Given the description of an element on the screen output the (x, y) to click on. 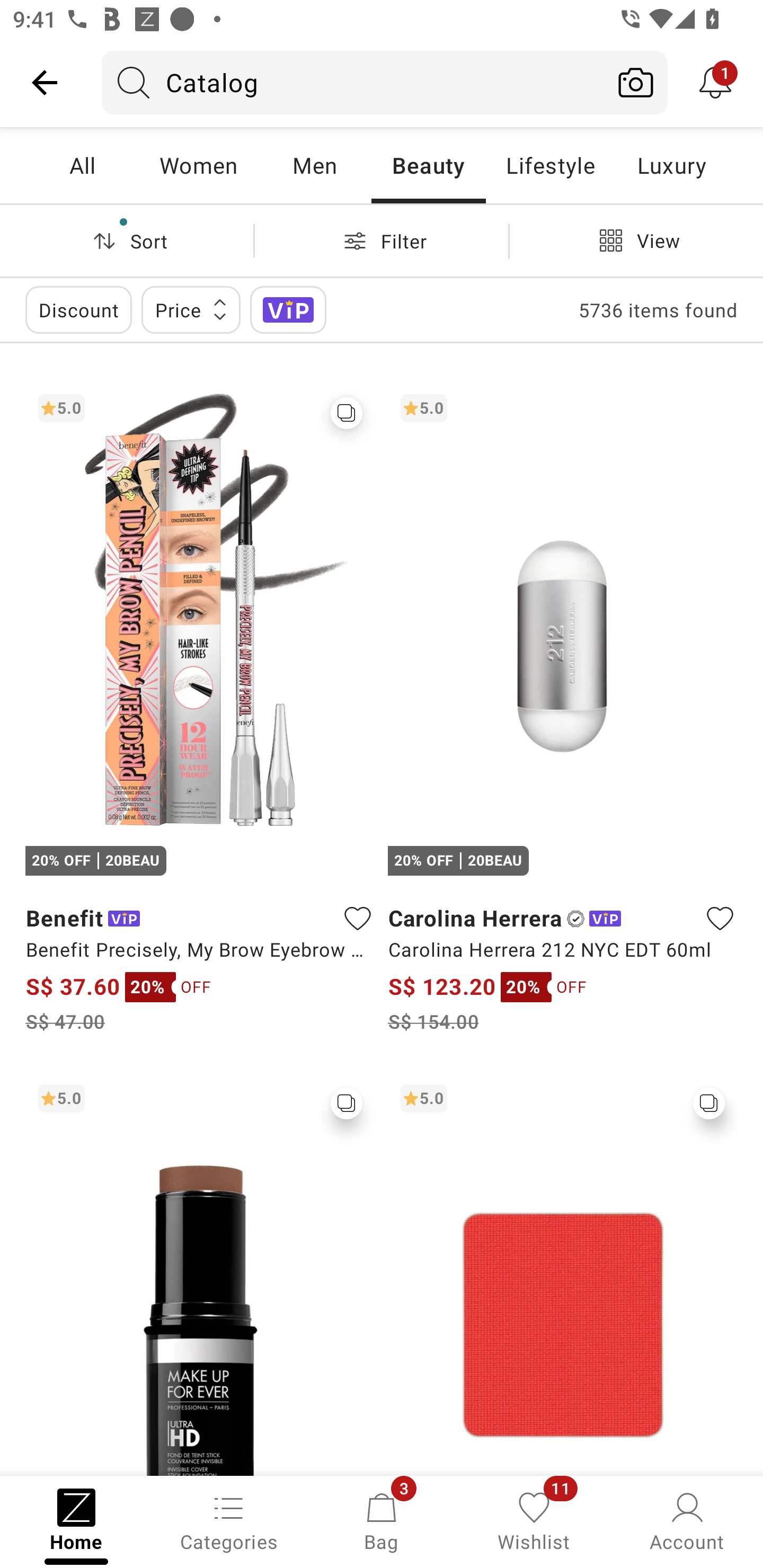
Navigate up (44, 82)
Catalog (352, 82)
All (82, 165)
Women (198, 165)
Men (314, 165)
Lifestyle (550, 165)
Luxury (671, 165)
Sort (126, 240)
Filter (381, 240)
View (636, 240)
Discount (78, 309)
Price (190, 309)
5.0 (200, 1272)
5.0 (562, 1272)
Categories (228, 1519)
Bag, 3 new notifications Bag (381, 1519)
Wishlist, 11 new notifications Wishlist (533, 1519)
Account (686, 1519)
